Given the description of an element on the screen output the (x, y) to click on. 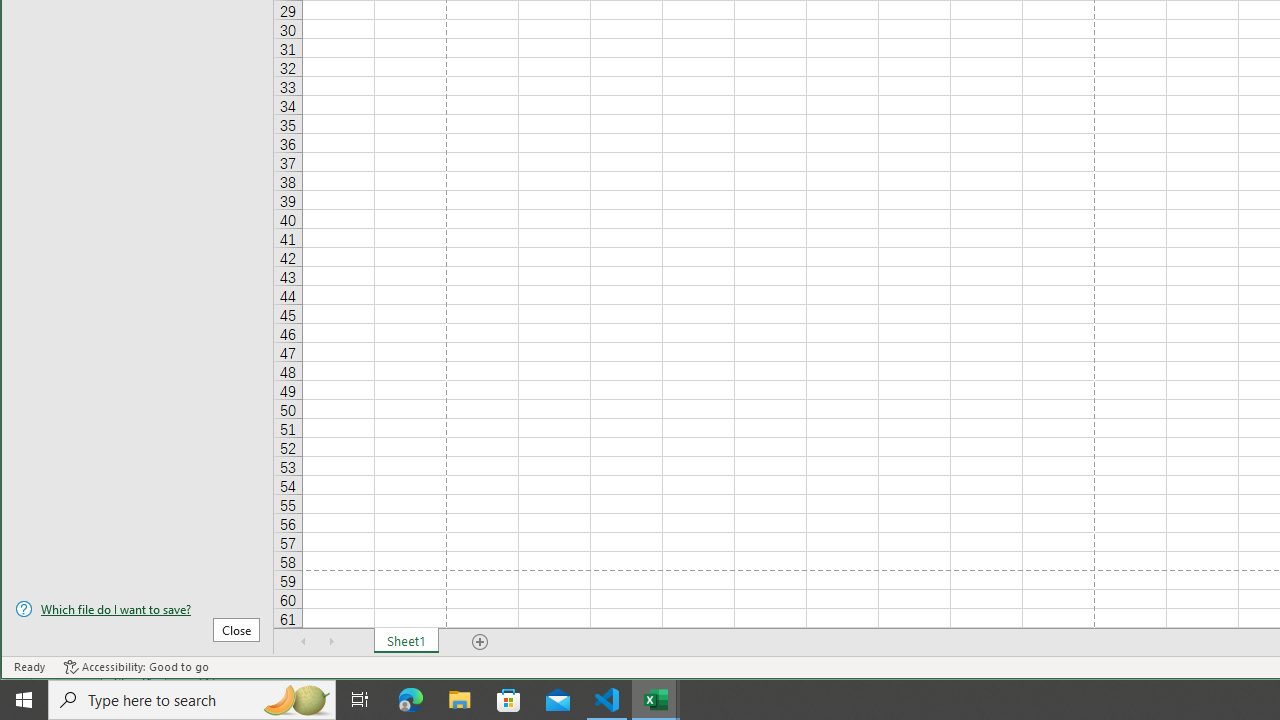
Task View (359, 699)
Excel - 2 running windows (656, 699)
Start (24, 699)
Visual Studio Code - 1 running window (607, 699)
Search highlights icon opens search home window (295, 699)
Microsoft Edge (411, 699)
Which file do I want to save? (137, 609)
Type here to search (191, 699)
File Explorer (460, 699)
